Given the description of an element on the screen output the (x, y) to click on. 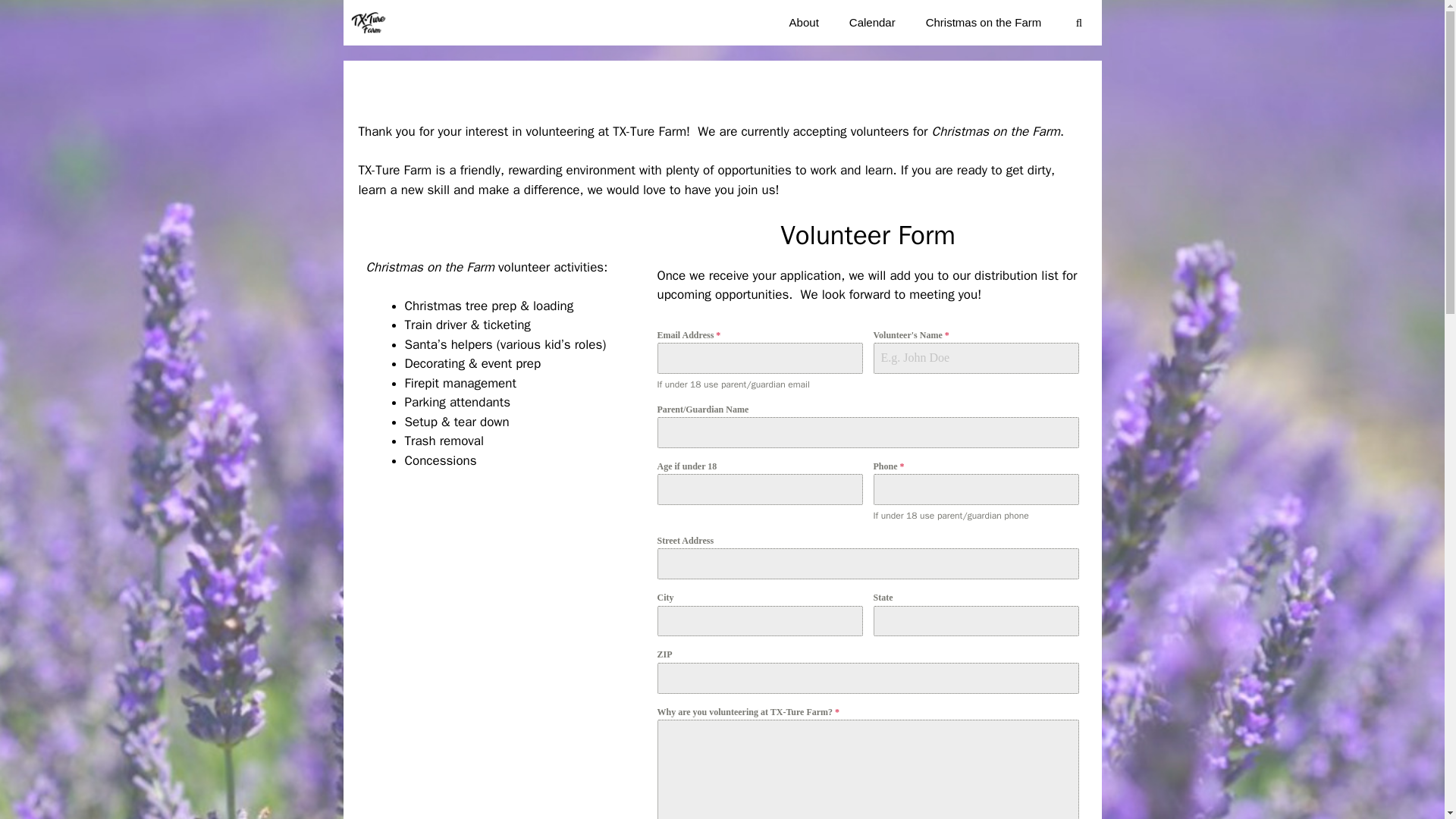
Christmas on the Farm (984, 22)
About (804, 22)
Calendar (872, 22)
TX-Ture Farm (367, 22)
TX-Ture Farm (371, 22)
